Given the description of an element on the screen output the (x, y) to click on. 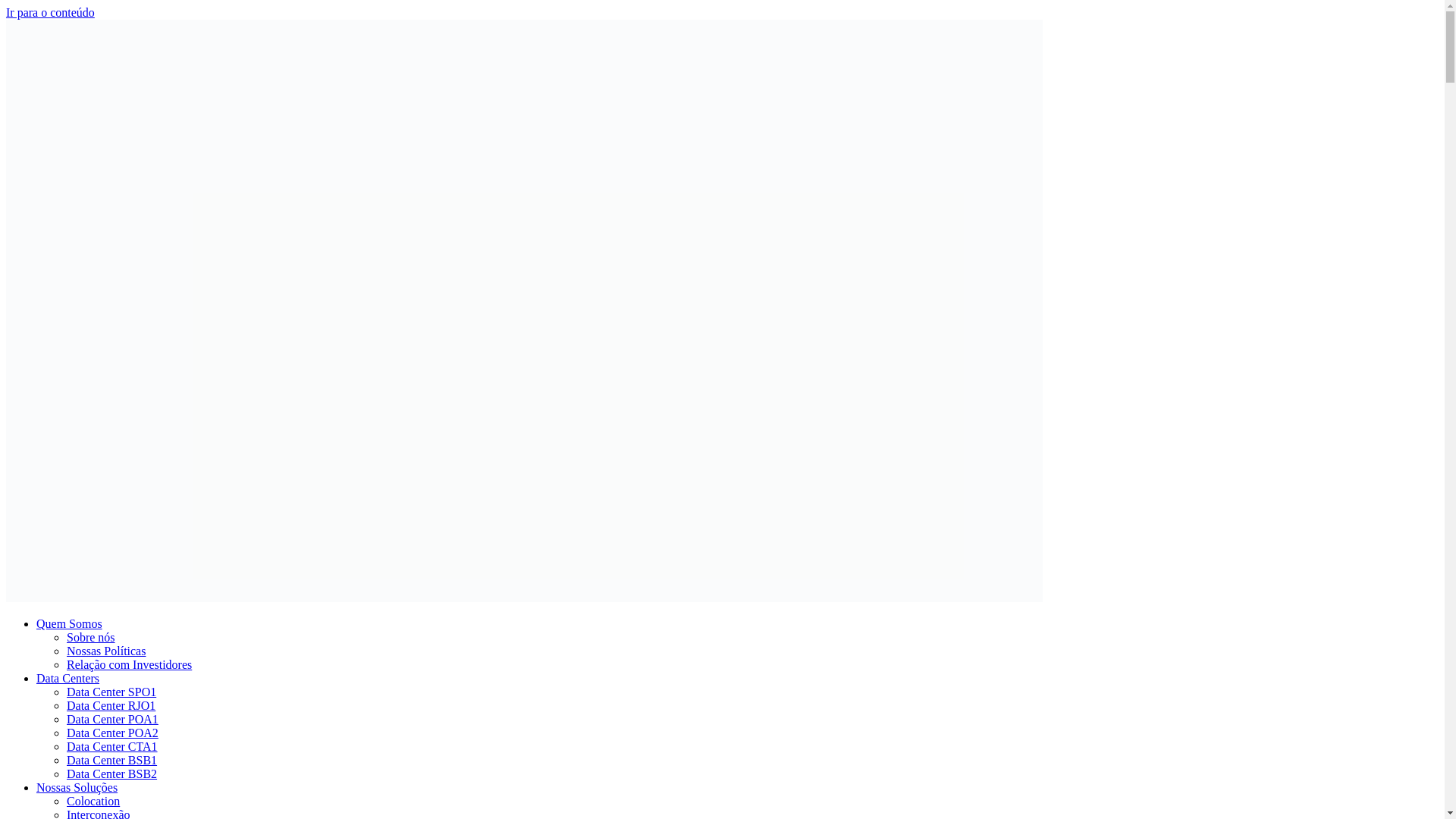
Data Center CTA1 (111, 746)
Data Center POA2 (112, 732)
Data Center SPO1 (110, 691)
Data Center BSB2 (111, 773)
Colocation (92, 800)
Data Center POA1 (112, 718)
Quem Somos (68, 623)
Data Center RJO1 (110, 705)
Data Centers (67, 677)
Data Center BSB1 (111, 759)
